Given the description of an element on the screen output the (x, y) to click on. 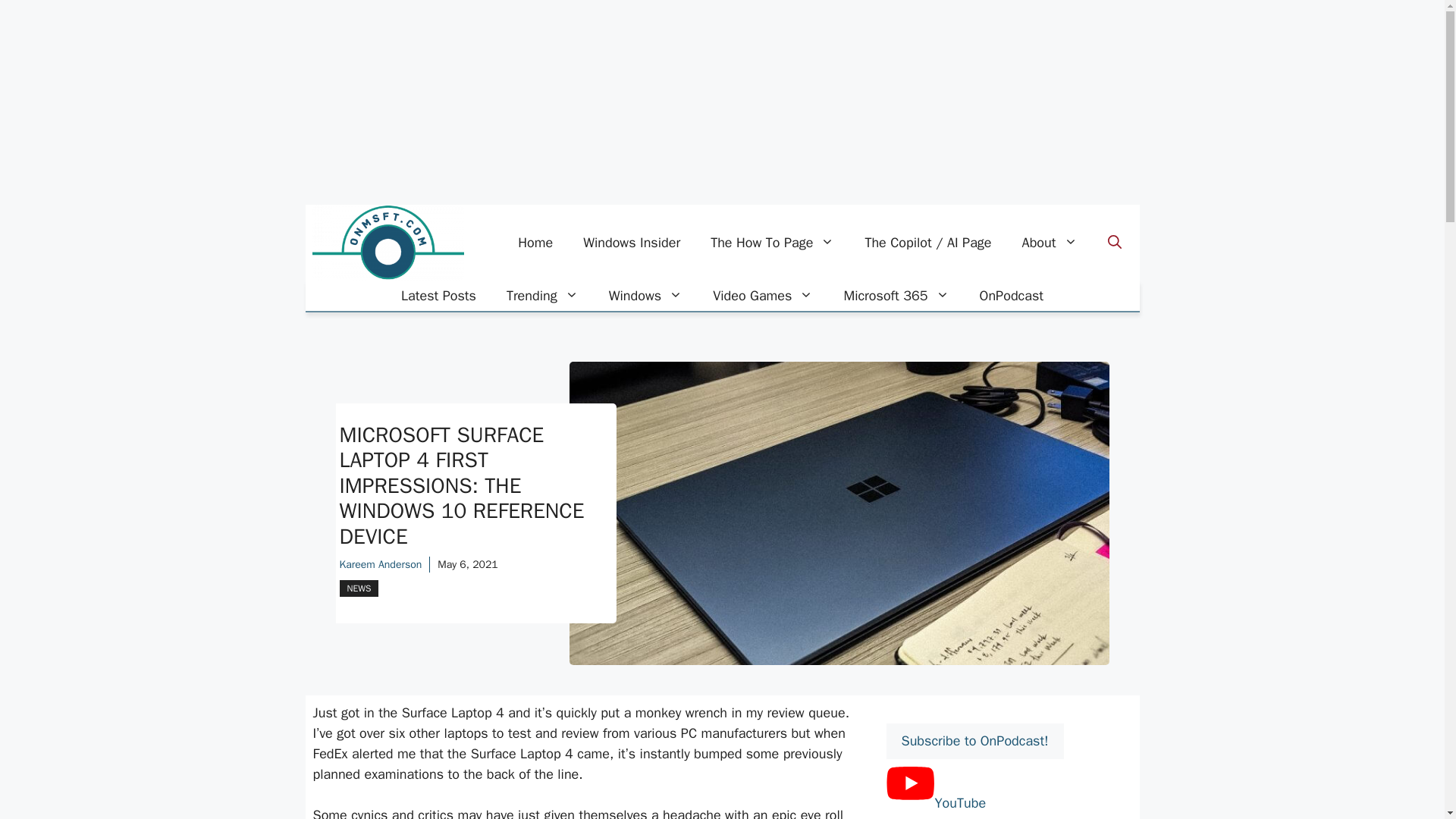
Windows Insider (631, 242)
Latest Posts (438, 295)
About (1050, 242)
The How To Page (771, 242)
Home (534, 242)
Video Games (762, 295)
Trending (543, 295)
Windows (645, 295)
